Given the description of an element on the screen output the (x, y) to click on. 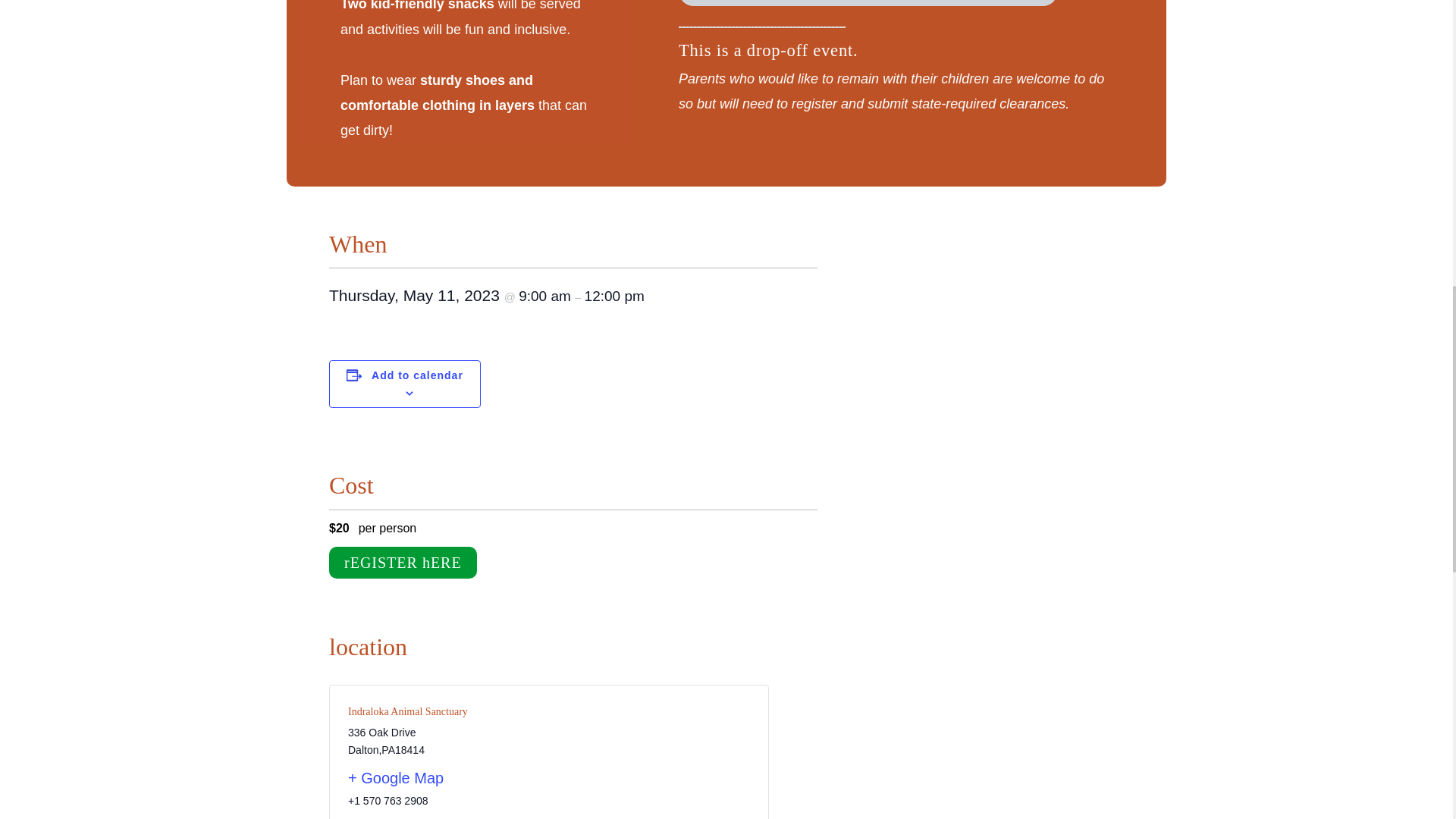
Click to view a Google Map (442, 777)
Pennsylvania (387, 749)
